Given the description of an element on the screen output the (x, y) to click on. 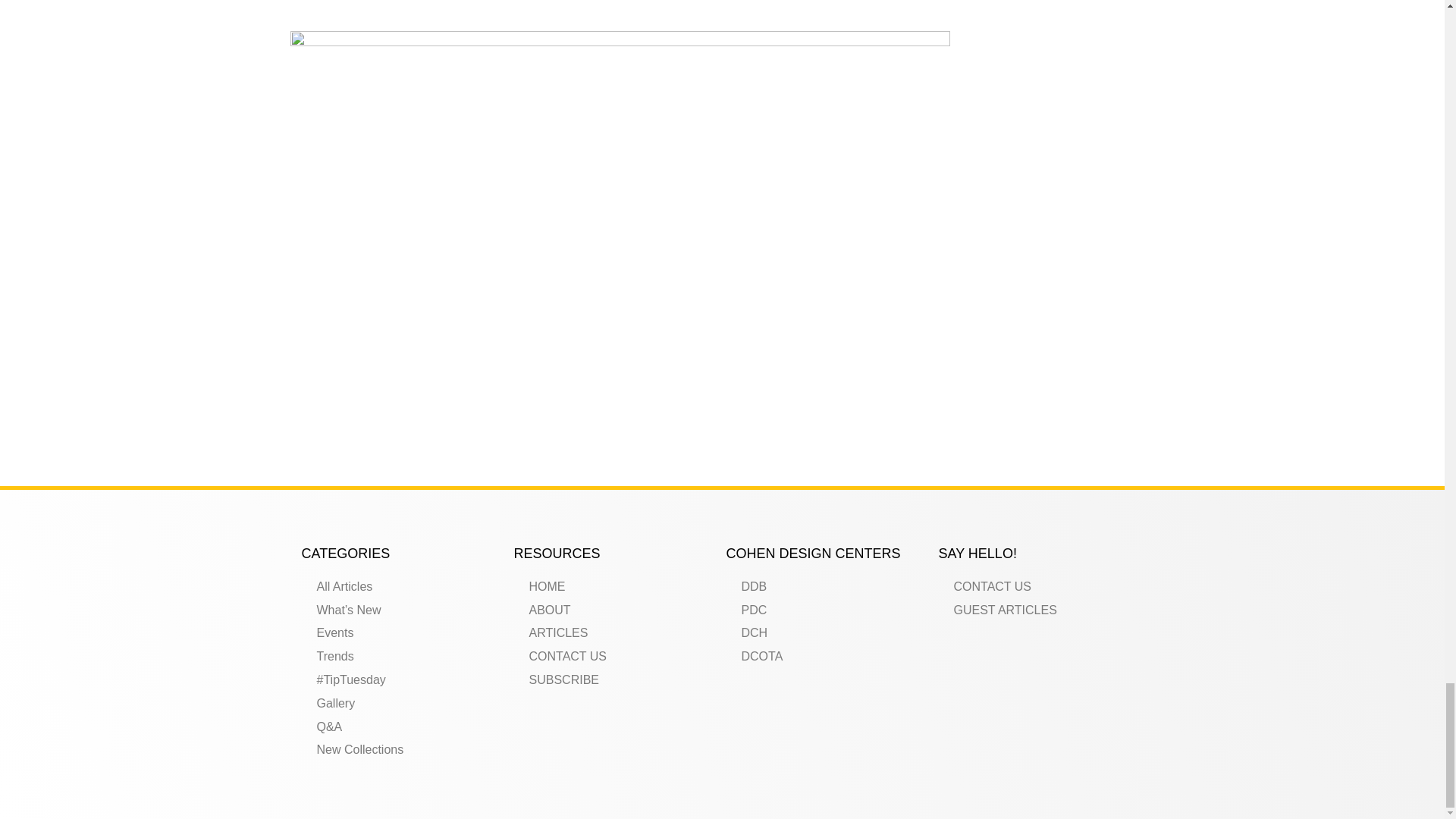
Events (403, 633)
PDC (828, 610)
Gallery (403, 703)
DCH (828, 633)
DDB (828, 586)
Trends (403, 657)
DCOTA (828, 657)
All Articles (403, 586)
